Given the description of an element on the screen output the (x, y) to click on. 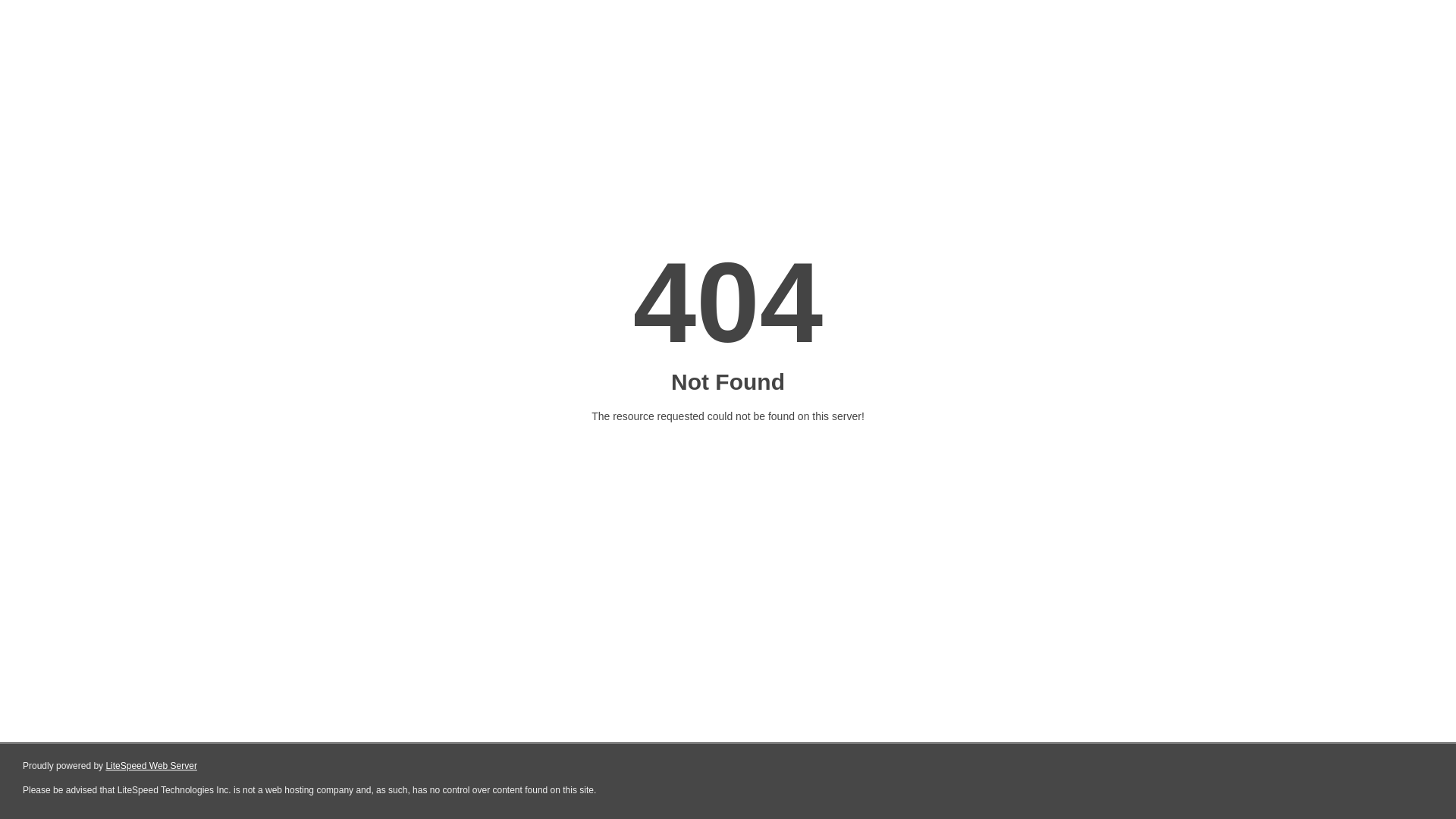
LiteSpeed Web Server Element type: text (151, 765)
